Given the description of an element on the screen output the (x, y) to click on. 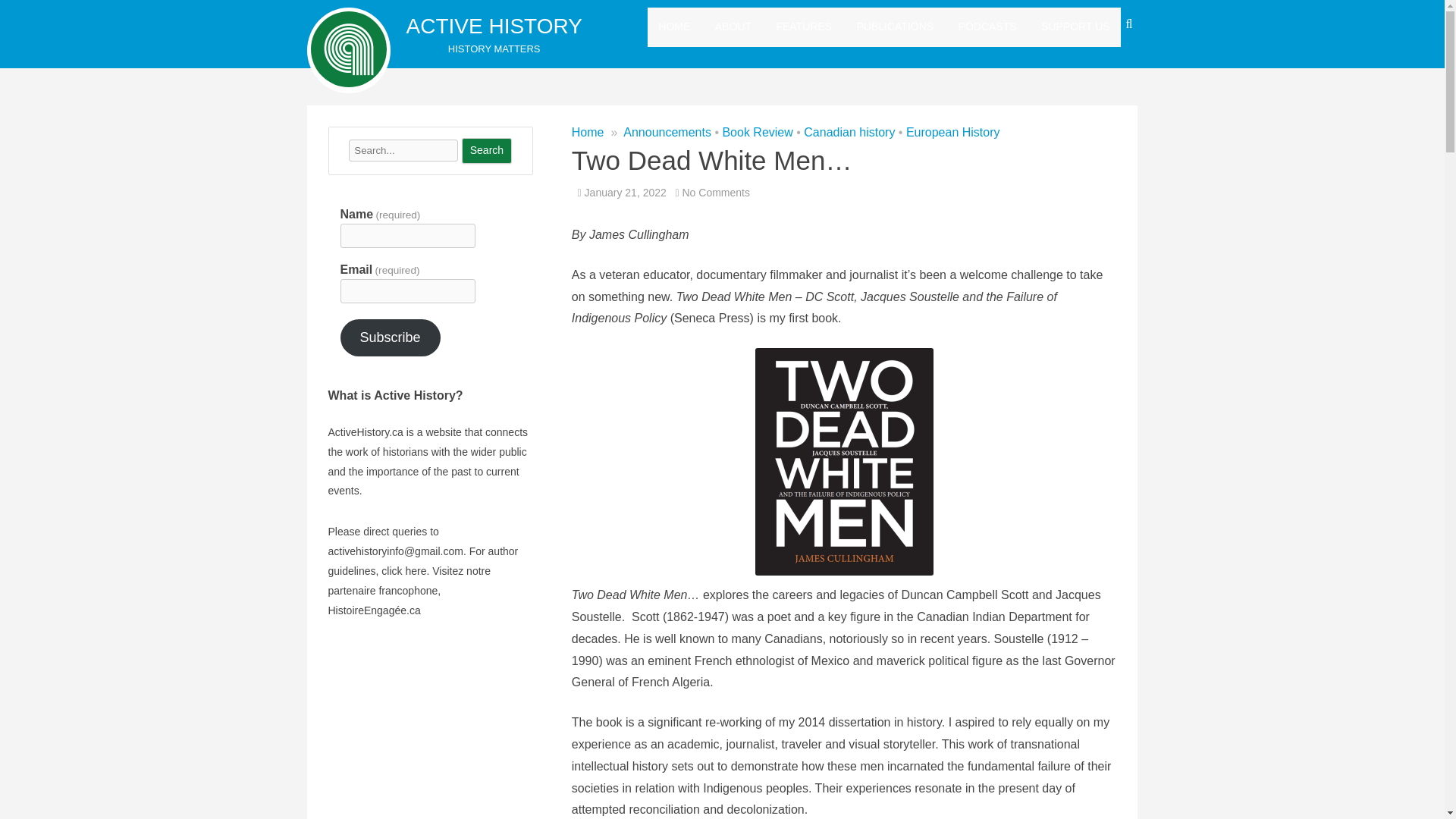
FEATURES (803, 26)
Active History (494, 26)
Announcements (667, 132)
PODCASTS (987, 26)
SUPPORT US (1075, 26)
Search (486, 150)
Canadian history (849, 132)
Book Review (757, 132)
Home (588, 132)
ABOUT (732, 26)
ACTIVE HISTORY (494, 26)
PUBLICATIONS (895, 26)
European History (952, 132)
